Given the description of an element on the screen output the (x, y) to click on. 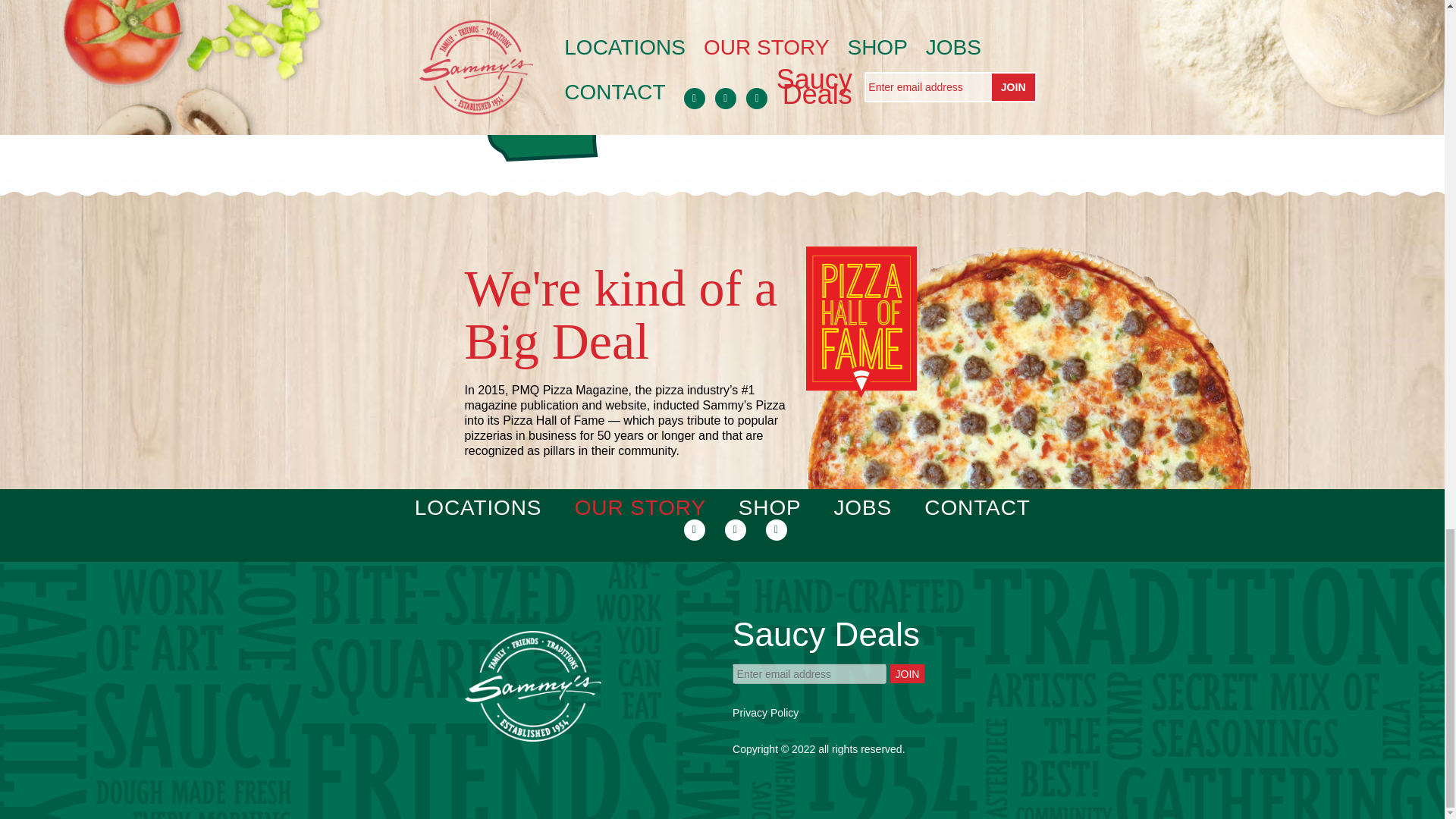
LOCATIONS (477, 507)
OUR STORY (640, 507)
JOBS (861, 507)
SHOP (769, 507)
JOIN (906, 673)
Privacy Policy (764, 712)
CONTACT (976, 507)
JOIN (906, 673)
